Given the description of an element on the screen output the (x, y) to click on. 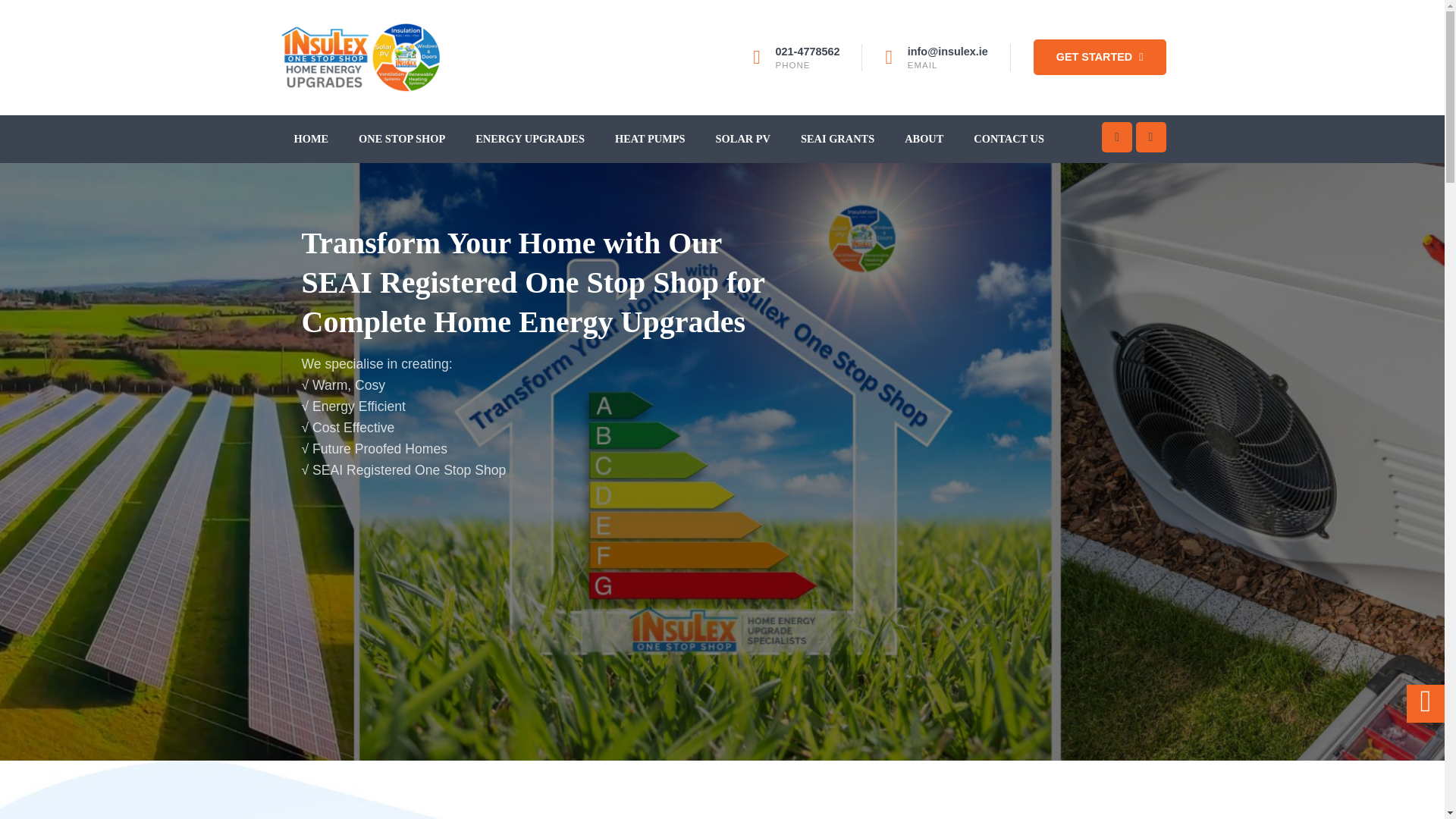
ONE STOP SHOP (401, 138)
GET STARTED (1099, 57)
HEAT PUMPS (650, 138)
ABOUT (923, 138)
SOLAR PV (742, 138)
ENERGY UPGRADES (529, 138)
SEAI GRANTS (837, 138)
021-4778562 (808, 51)
CONTACT US (1008, 138)
HOME (311, 138)
